Given the description of an element on the screen output the (x, y) to click on. 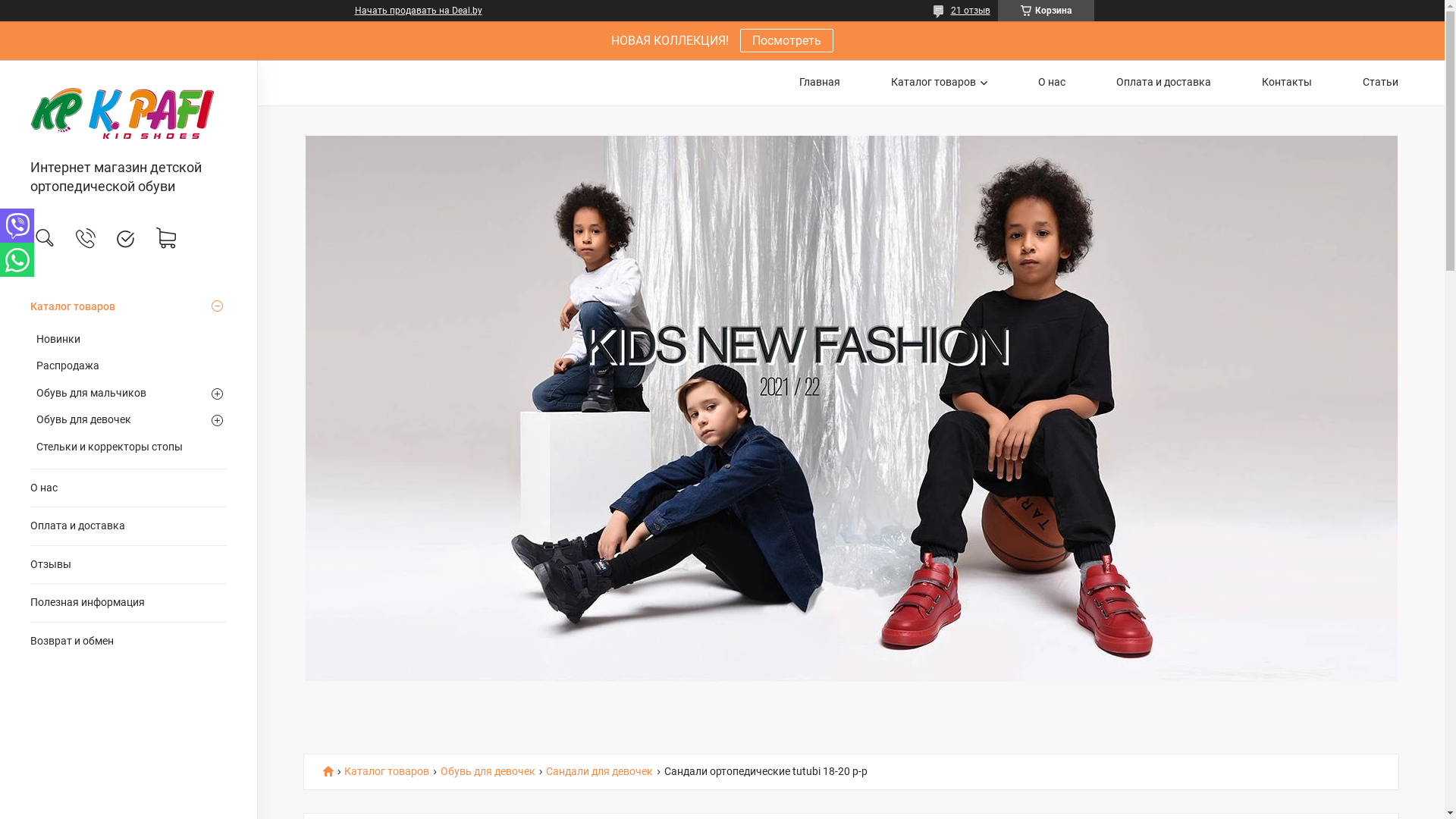
kemalpafi.by Element type: hover (128, 110)
Kemalpafi.by Element type: hover (333, 770)
